Given the description of an element on the screen output the (x, y) to click on. 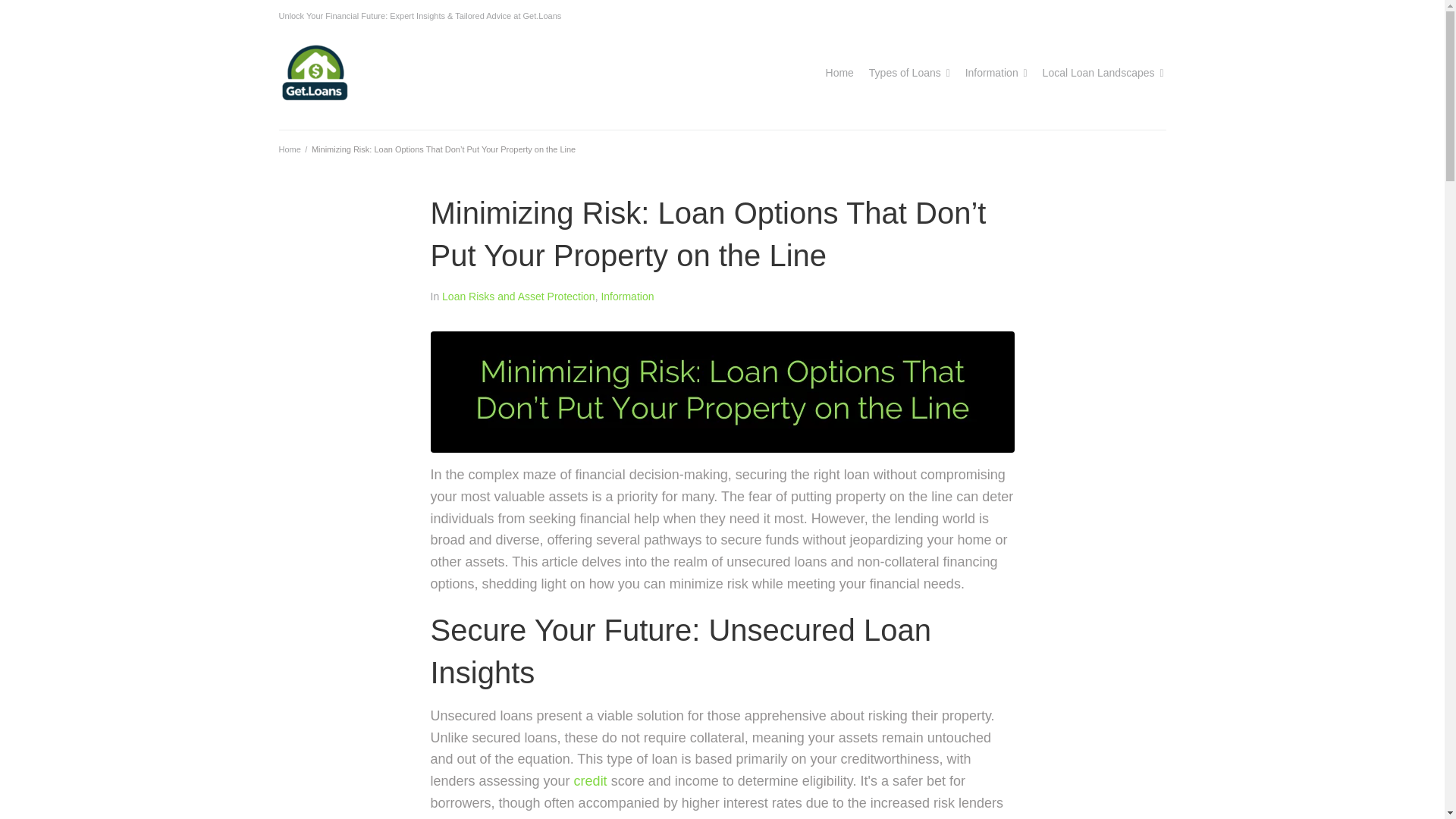
Types of Loans (904, 73)
Information (991, 73)
Home (839, 73)
Home (290, 148)
Posts tagged with credit (590, 780)
Local Loan Landscapes (1098, 73)
